Given the description of an element on the screen output the (x, y) to click on. 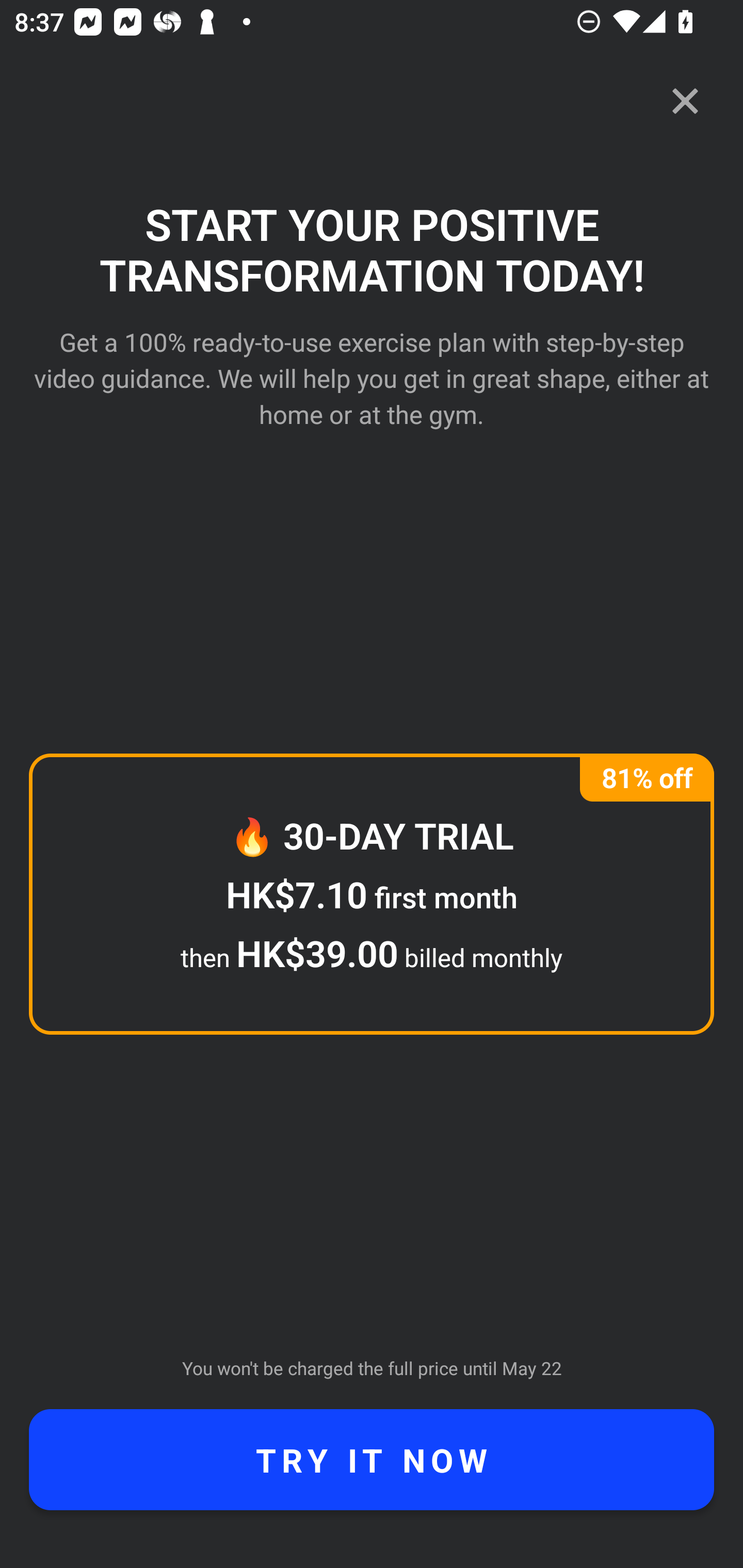
Close (684, 101)
TRY IT NOW (371, 1459)
